Given the description of an element on the screen output the (x, y) to click on. 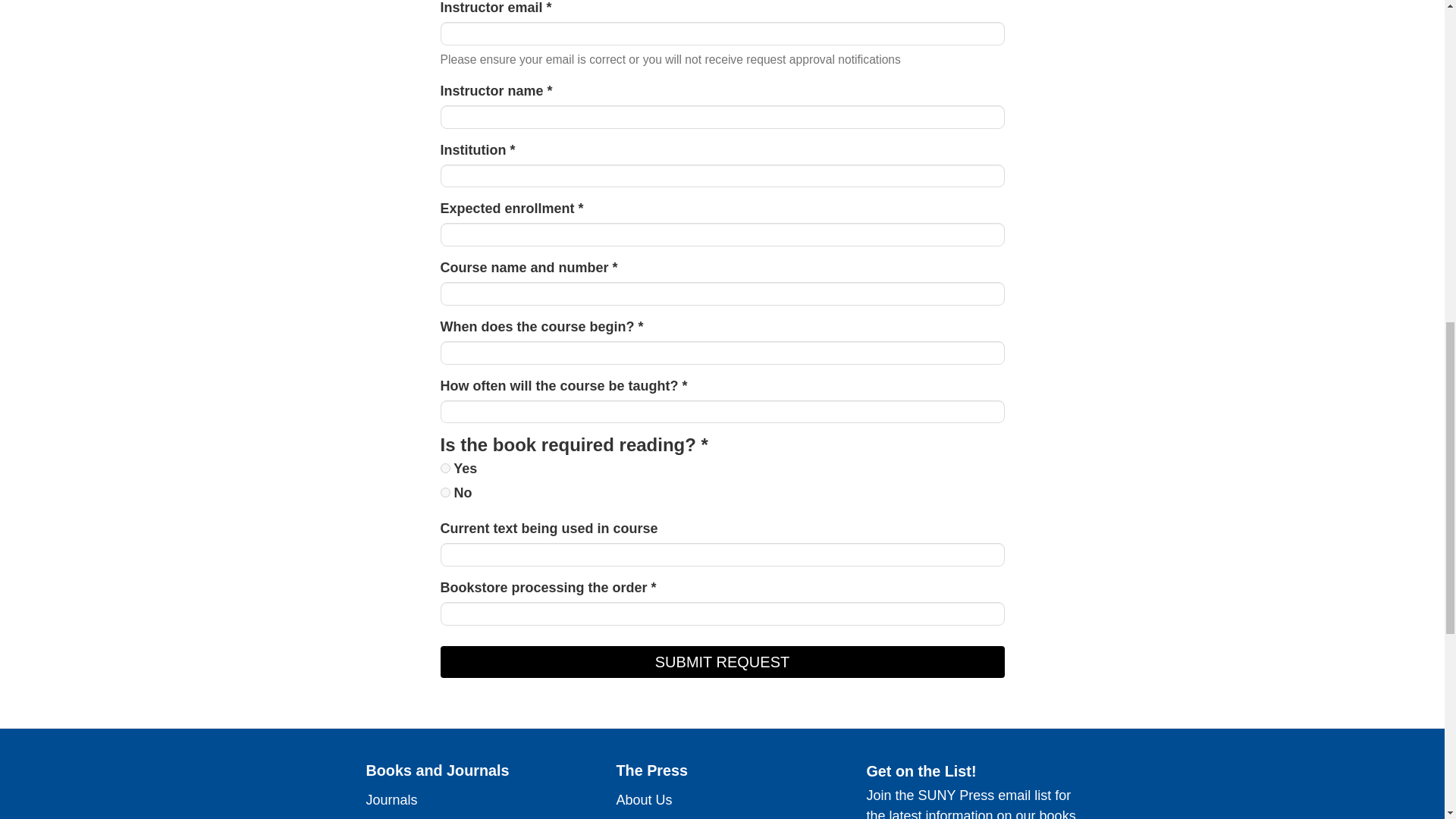
yes (444, 468)
no (444, 492)
SUBMIT REQUEST (721, 662)
